Given the description of an element on the screen output the (x, y) to click on. 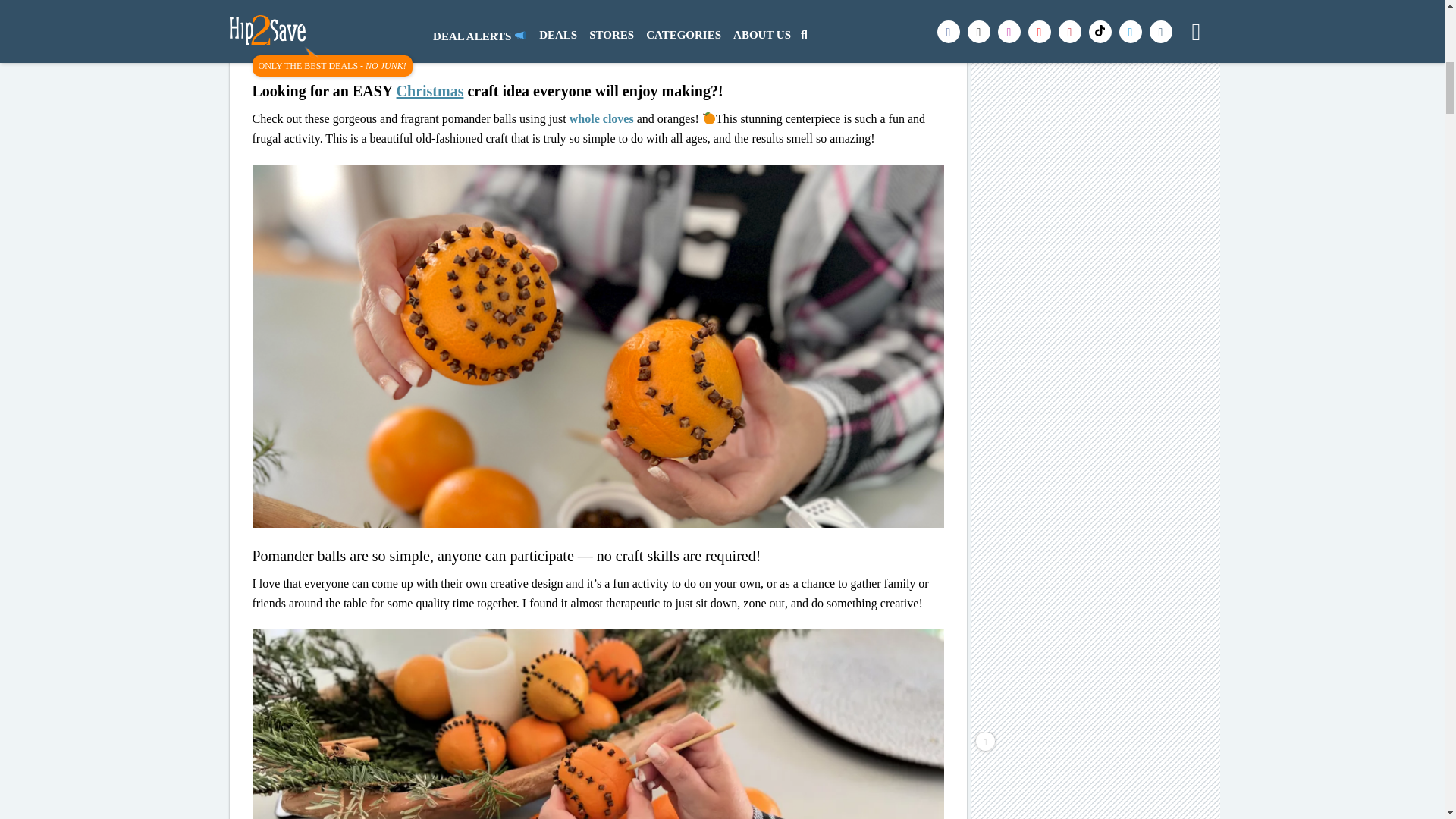
3rd party ad content (1095, 58)
3rd party ad content (1095, 235)
whole cloves (601, 118)
Christmas (430, 90)
